Given the description of an element on the screen output the (x, y) to click on. 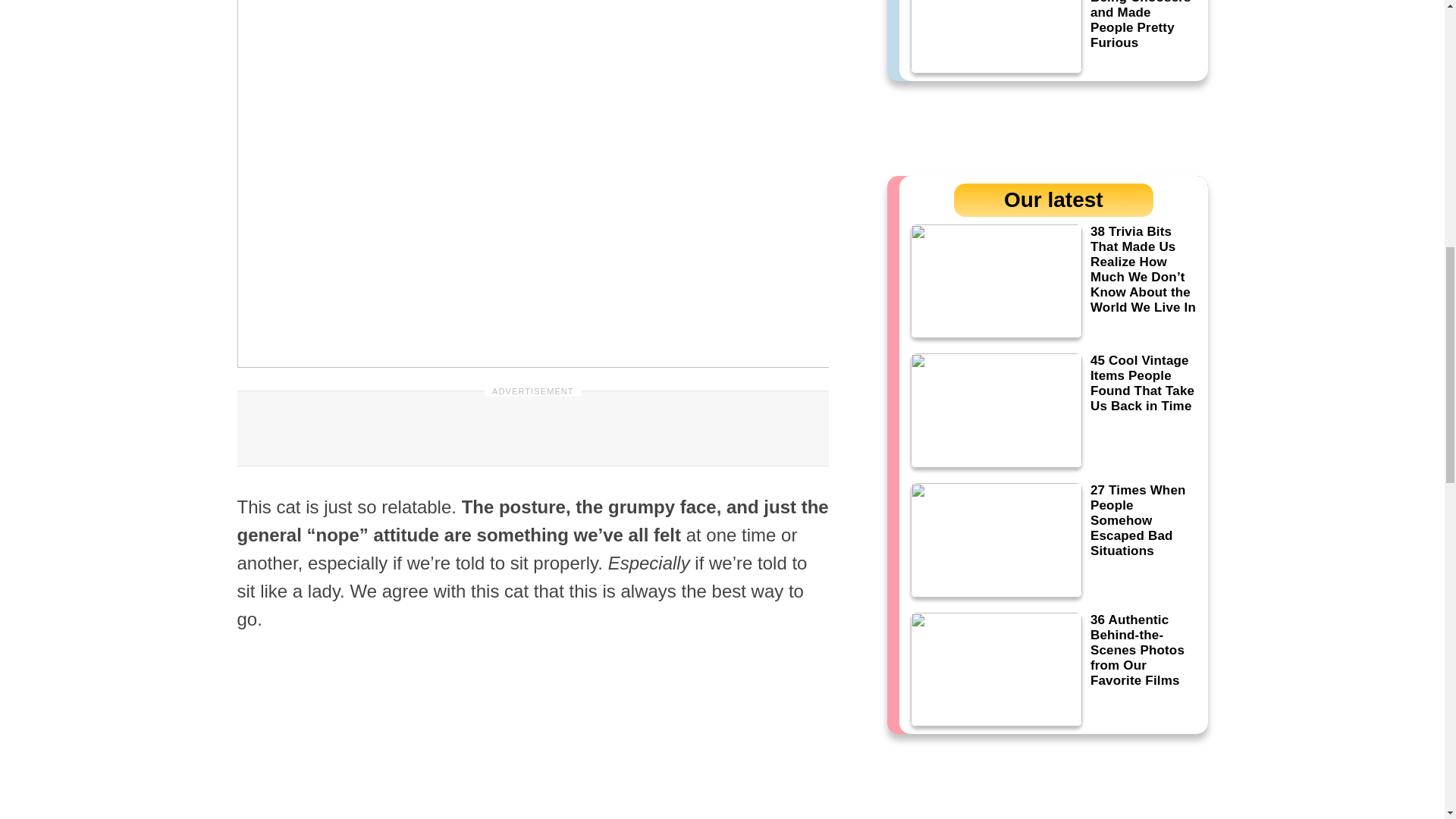
45 Cool Vintage Items People Found That Take Us Back in Time (1053, 409)
27 Times When People Somehow Escaped Bad Situations (1053, 540)
